Given the description of an element on the screen output the (x, y) to click on. 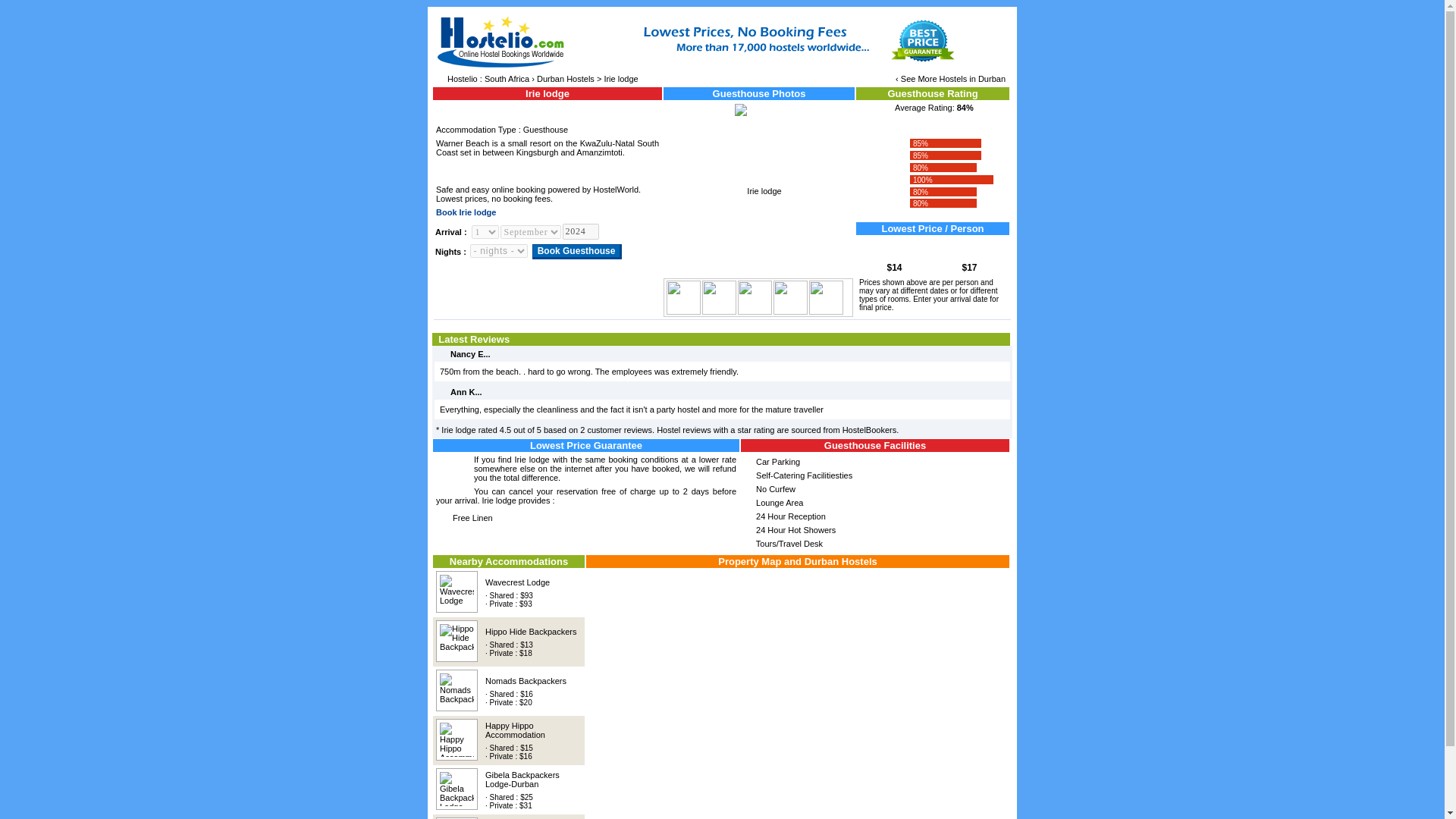
Wavecrest Lodge (517, 582)
Durban Hostels (565, 78)
Hostels in Durban (972, 78)
Gibela Backpackers Lodge-Durban (521, 779)
Nomads Backpackers (525, 680)
Hippo Hide Backpackers (530, 630)
2024 (580, 231)
South Africa (506, 78)
Happy Hippo Accommodation (514, 729)
Year (580, 231)
